Given the description of an element on the screen output the (x, y) to click on. 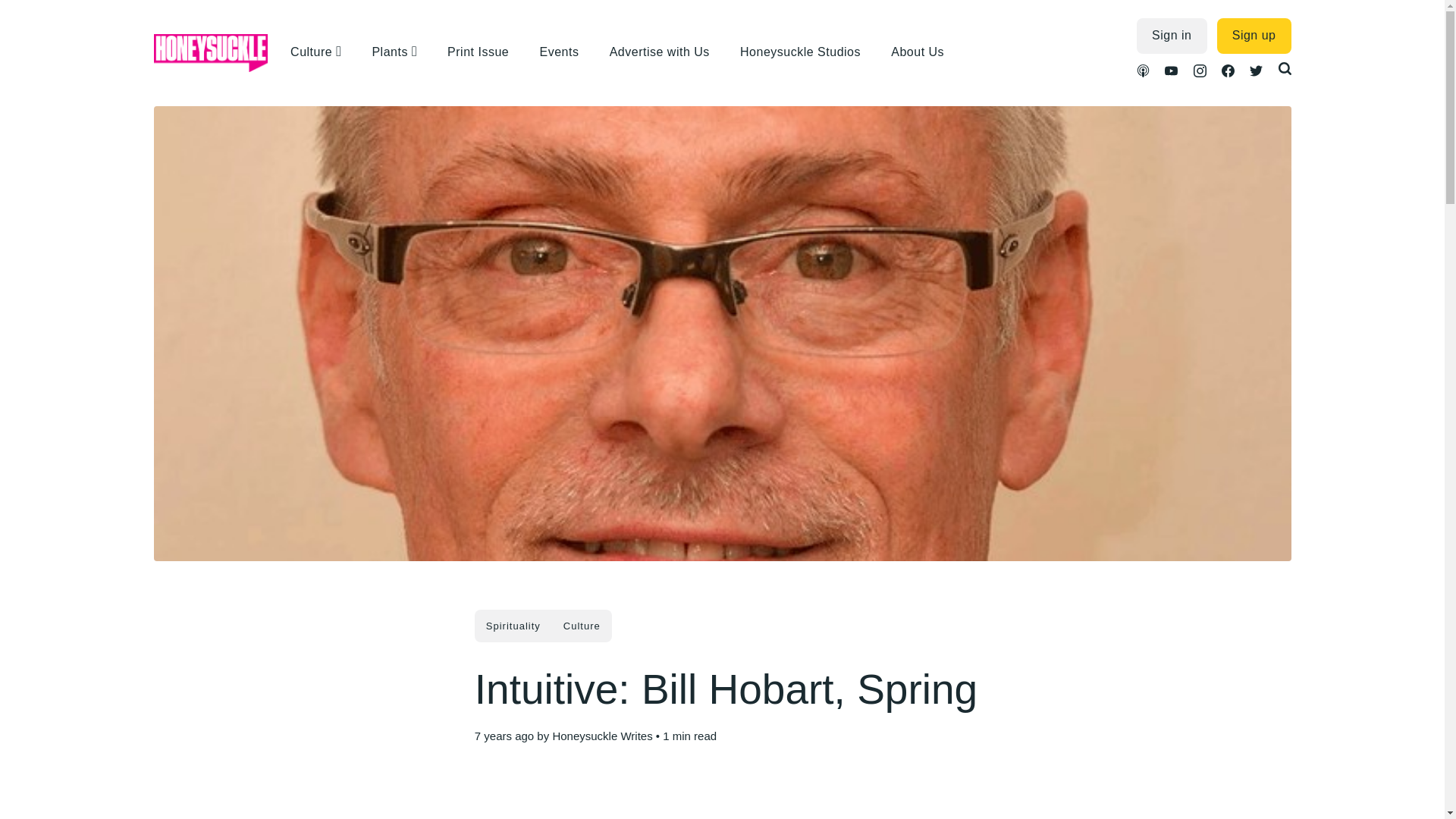
Culture (312, 52)
About Us (925, 52)
Advertise with Us (667, 52)
Plants (390, 52)
Culture (581, 625)
Print Issue (485, 52)
Sign up (1254, 36)
Honeysuckle Writes (601, 735)
Honeysuckle Studios (807, 52)
Sign in (1172, 36)
Spirituality (512, 625)
Events (566, 52)
